Given the description of an element on the screen output the (x, y) to click on. 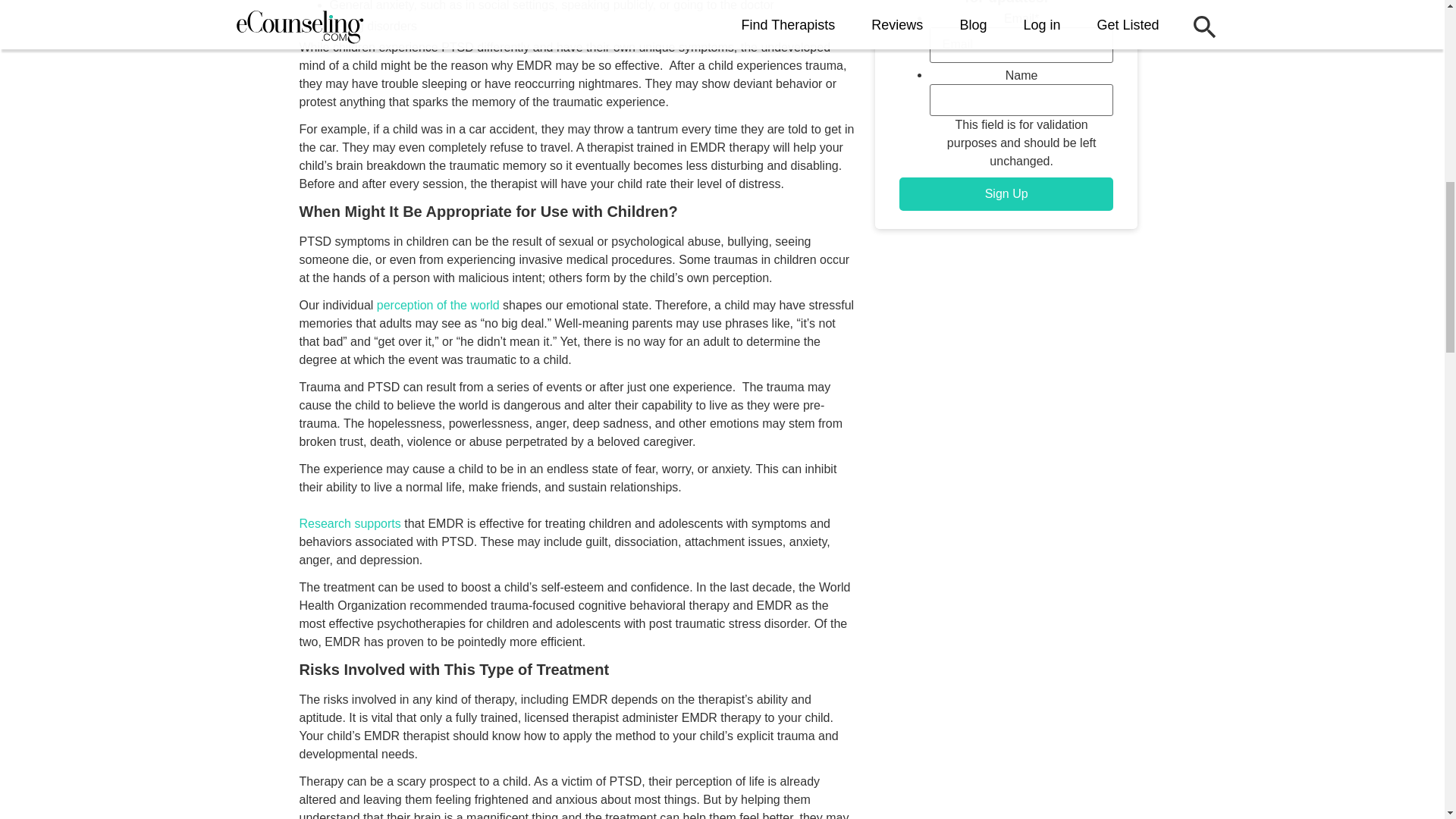
perception of the world (438, 305)
Sign Up (1006, 193)
Research supports (349, 522)
